Given the description of an element on the screen output the (x, y) to click on. 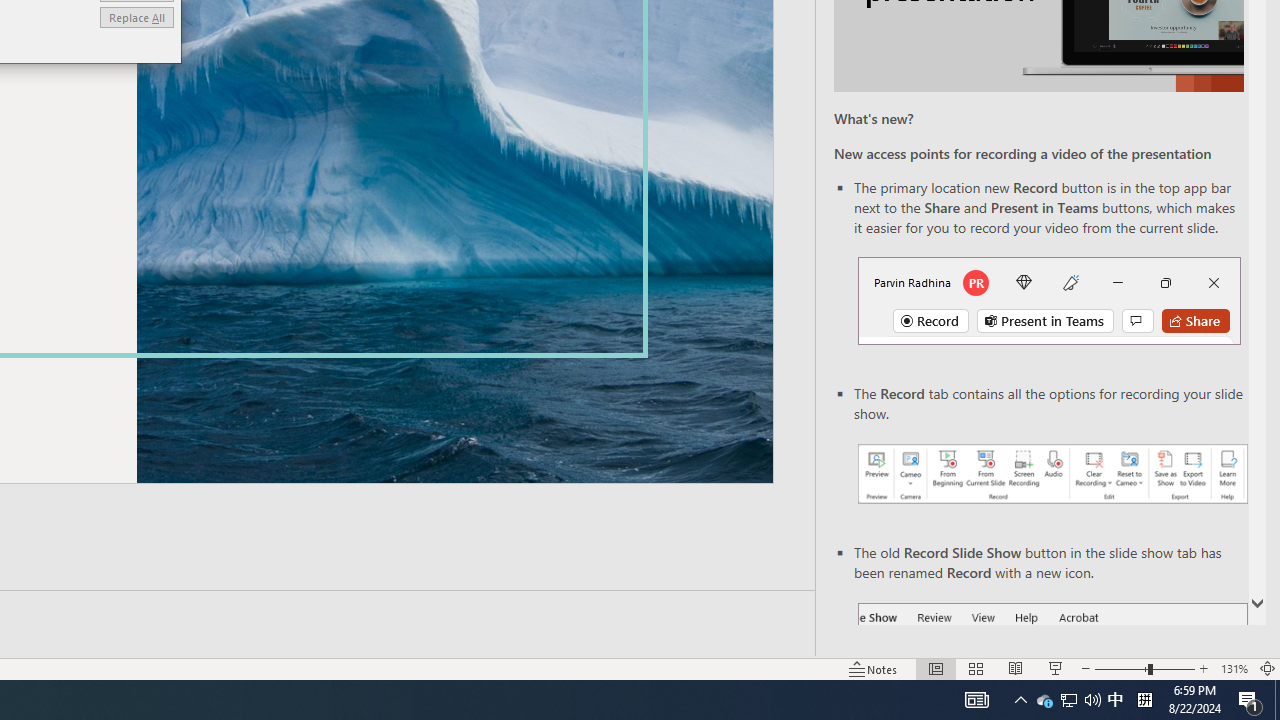
Record button in top bar (1044, 699)
AutomationID: 4105 (1049, 300)
Record your presentations screenshot one (976, 699)
Show desktop (1115, 699)
